Given the description of an element on the screen output the (x, y) to click on. 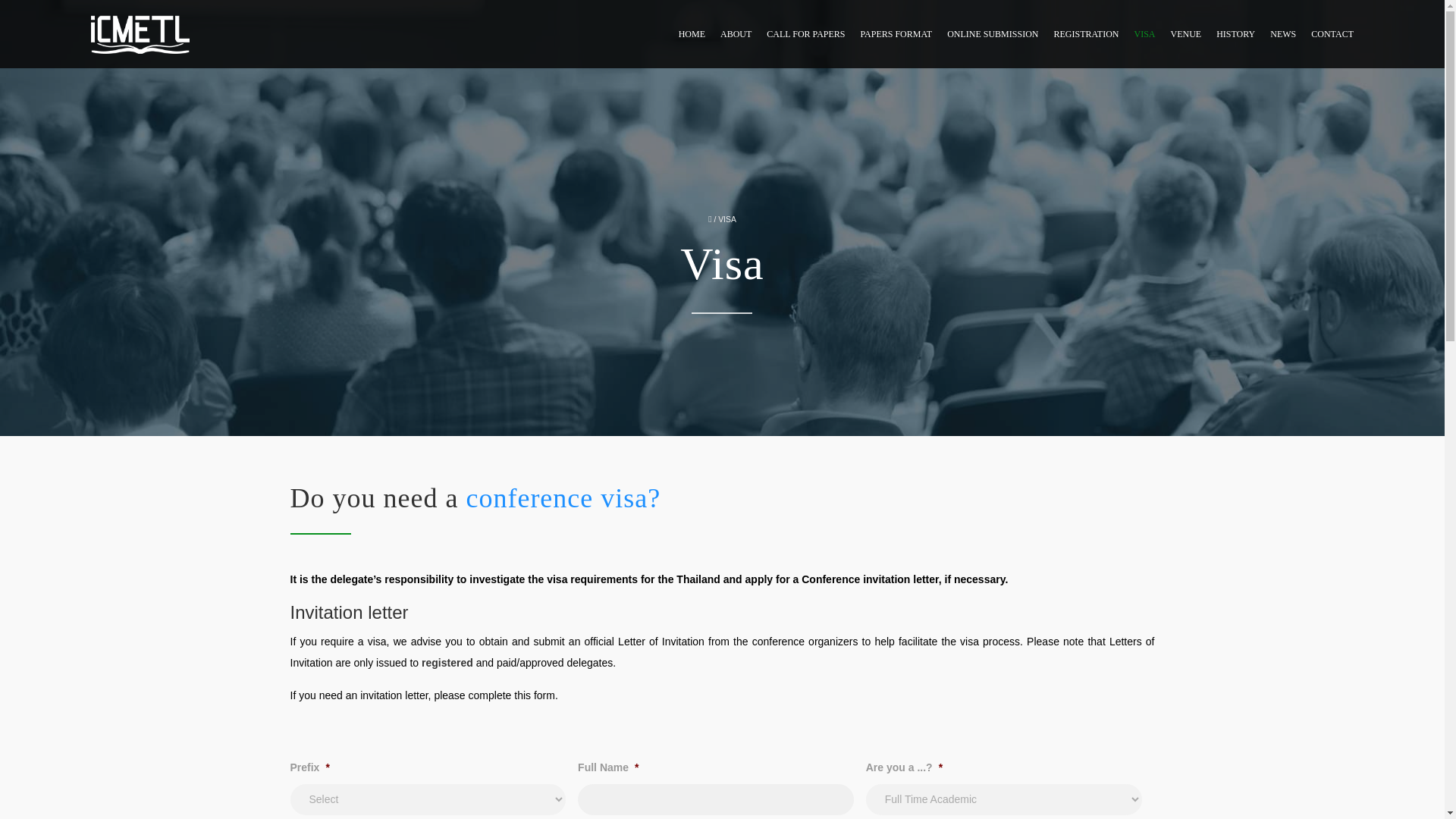
ONLINE SUBMISSION (992, 33)
REGISTRATION (1085, 33)
Home (139, 33)
registered (447, 662)
PAPERS FORMAT (896, 33)
CALL FOR PAPERS (804, 33)
